Given the description of an element on the screen output the (x, y) to click on. 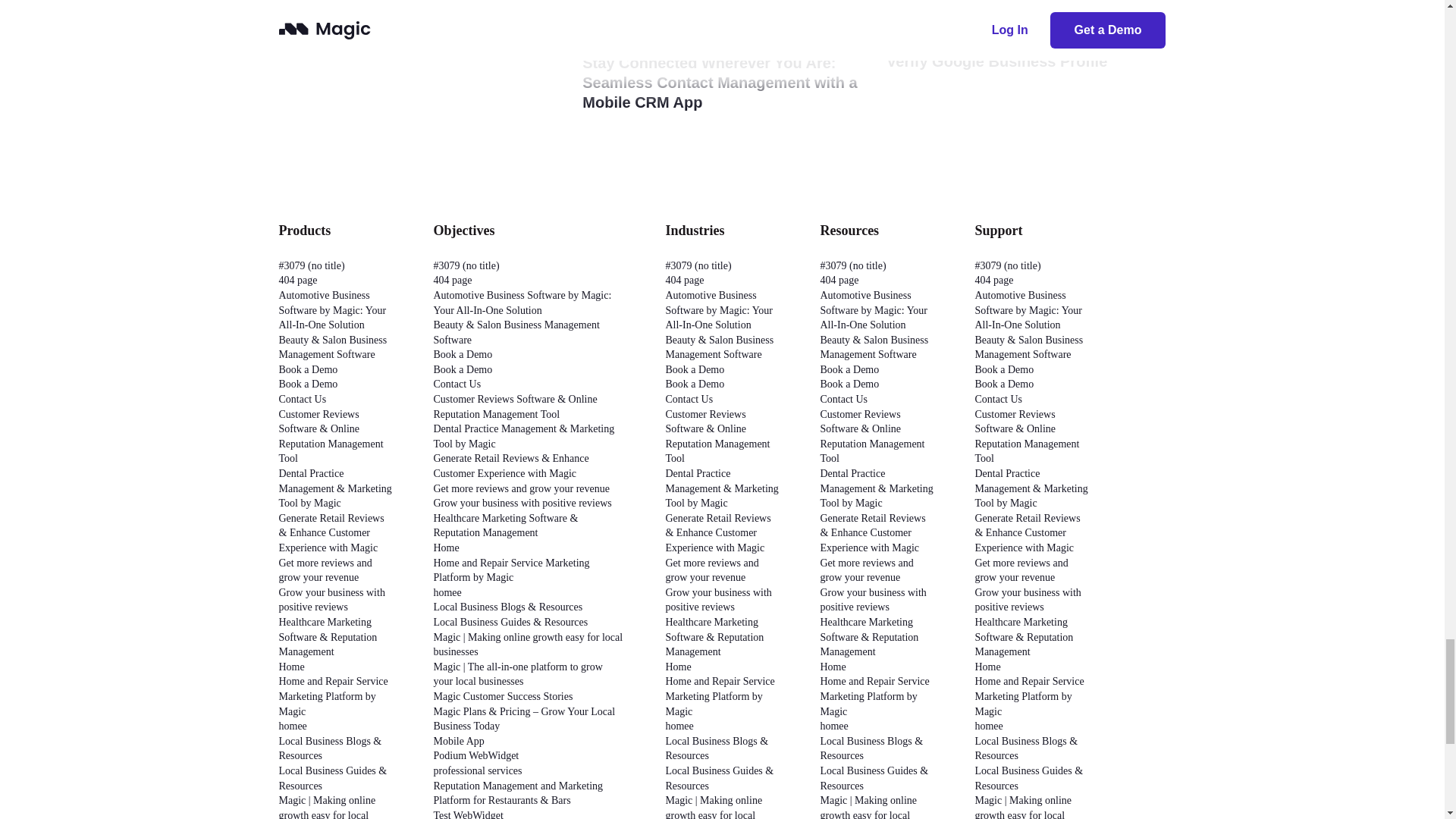
Mastering Mobile Marketing: Your Complete Guide to Success (400, 30)
404 page (298, 279)
Book a Demo (308, 383)
Book a Demo (308, 369)
